Given the description of an element on the screen output the (x, y) to click on. 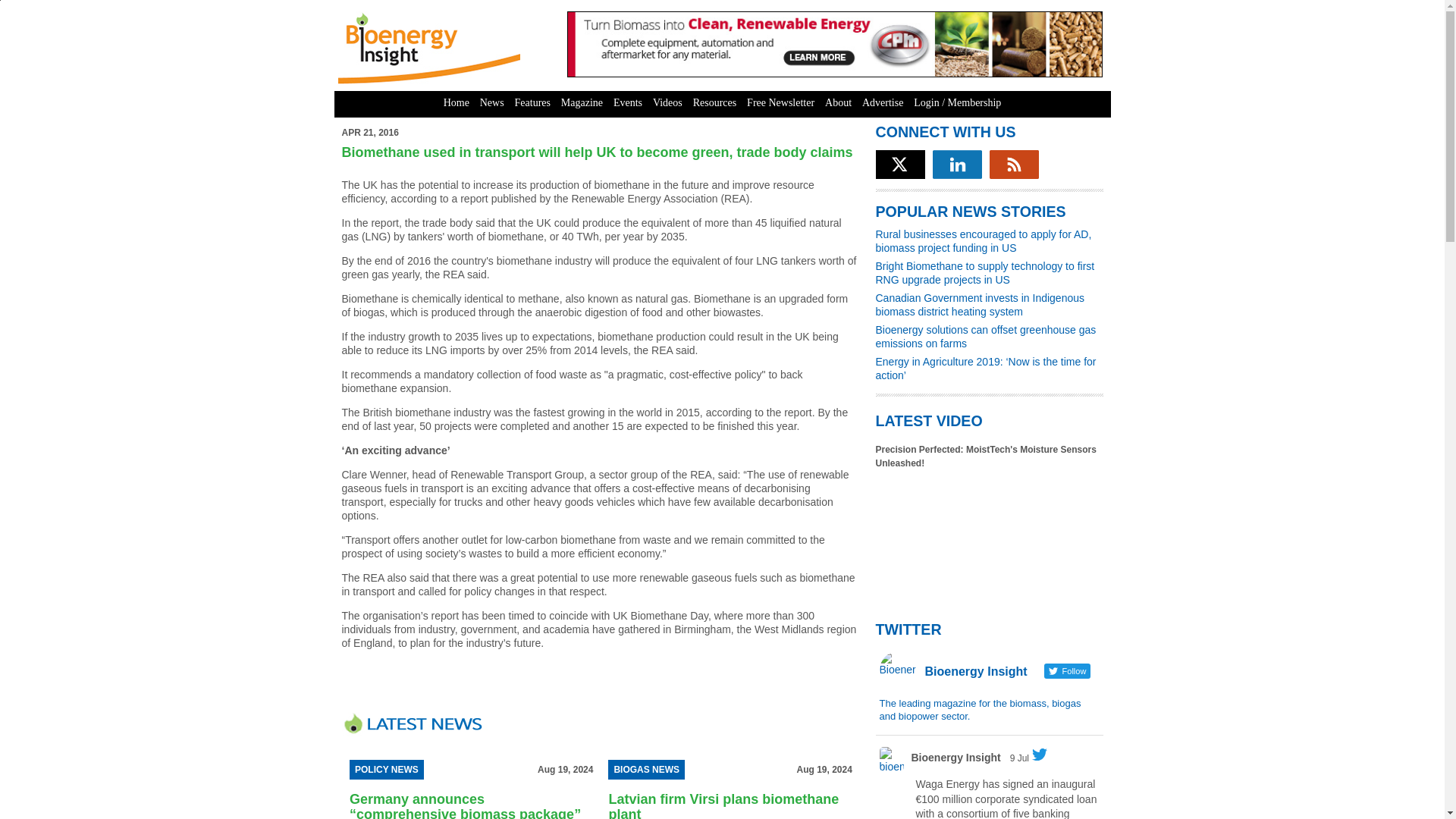
Magazine (582, 102)
Features (532, 102)
Free Newsletter (780, 102)
Resources (714, 102)
Videos (667, 102)
Advertise (883, 102)
